Given the description of an element on the screen output the (x, y) to click on. 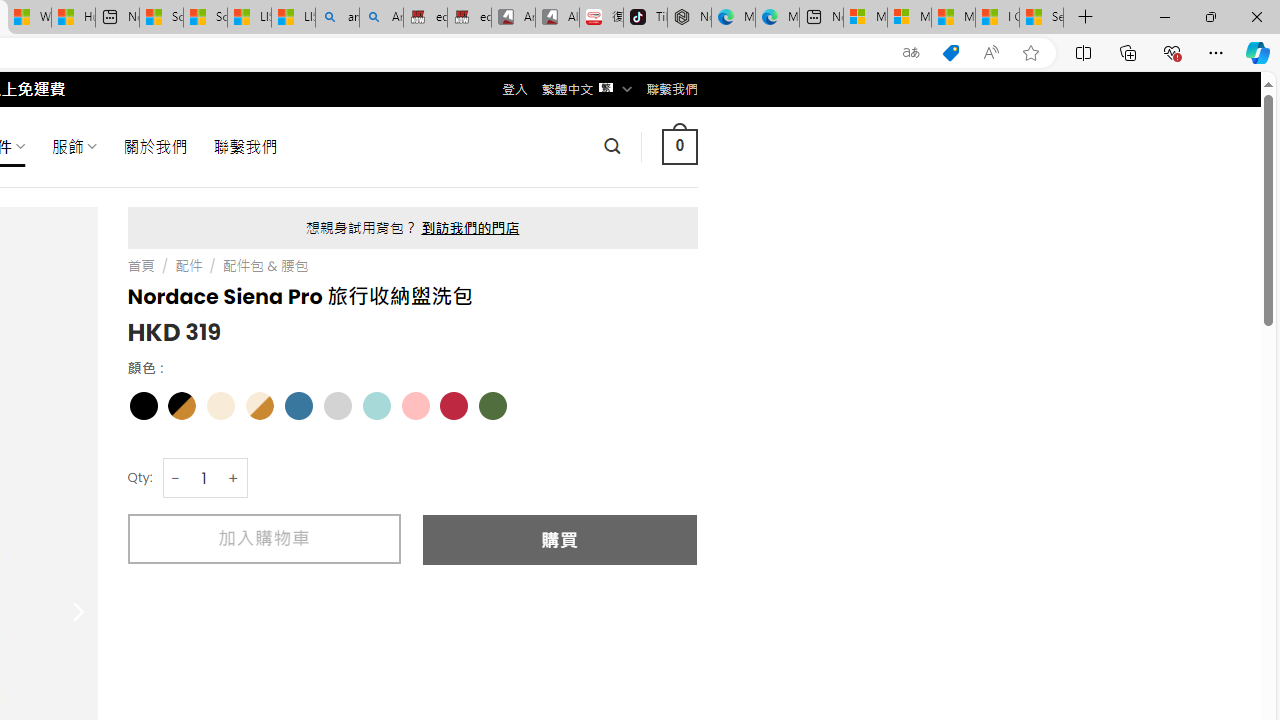
All Cubot phones (557, 17)
Nordace - Best Sellers (689, 17)
I Gained 20 Pounds of Muscle in 30 Days! | Watch (996, 17)
+ (234, 477)
